Given the description of an element on the screen output the (x, y) to click on. 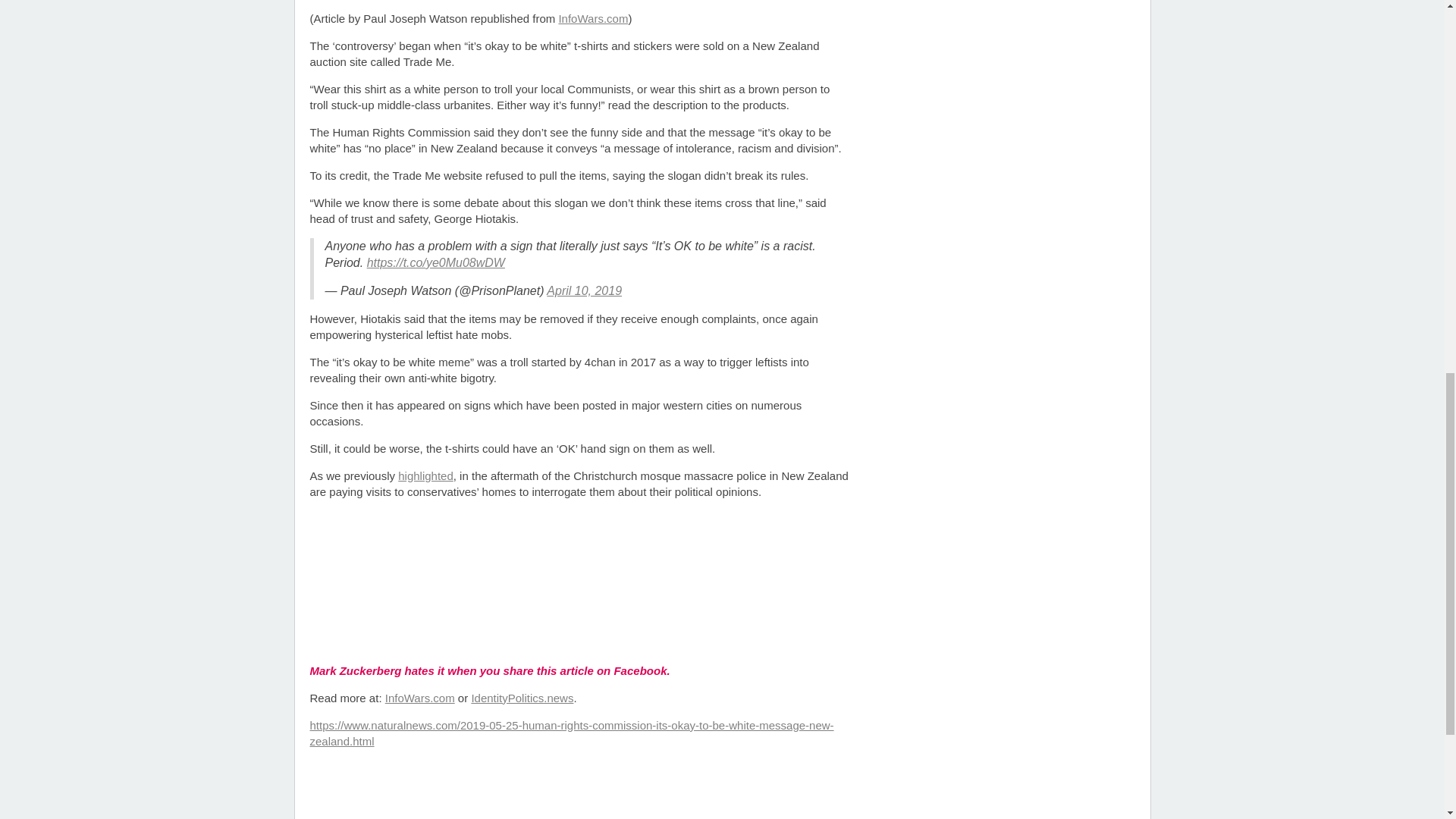
April 10, 2019 (584, 290)
highlighted (424, 475)
InfoWars.com (419, 697)
IdentityPolitics.news (521, 697)
InfoWars.com (592, 18)
